Given the description of an element on the screen output the (x, y) to click on. 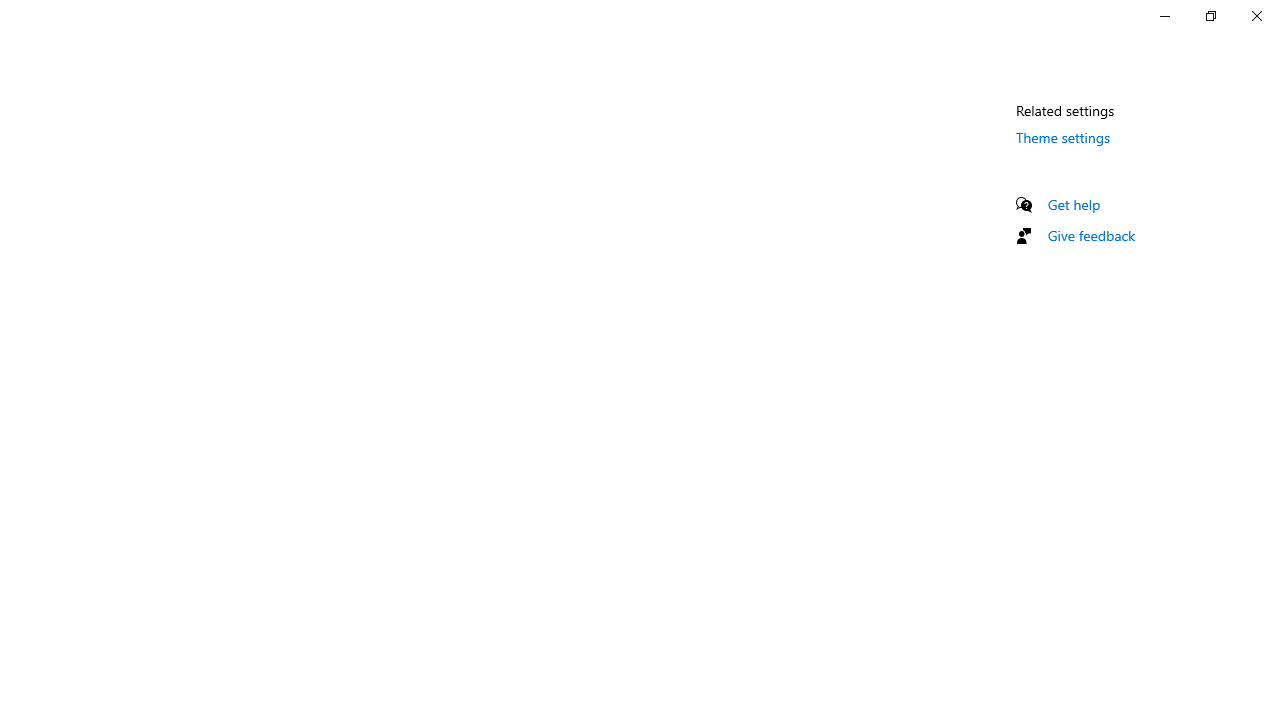
Theme settings (1063, 137)
Minimize Settings (1164, 15)
Close Settings (1256, 15)
Give feedback (1091, 235)
Restore Settings (1210, 15)
Get help (1074, 204)
